Given the description of an element on the screen output the (x, y) to click on. 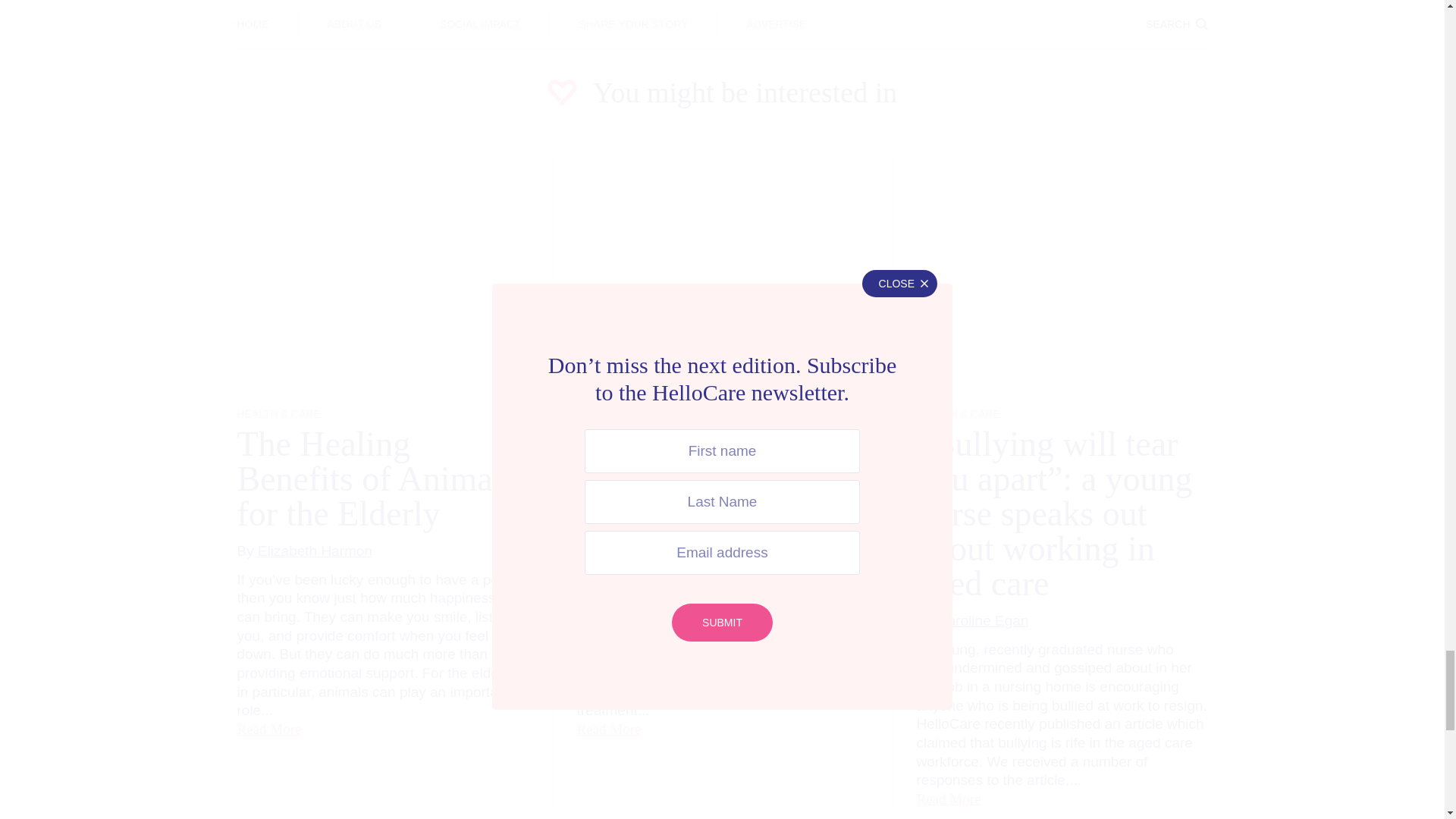
Read The Healing Benefits of Animals for the Elderly (268, 729)
